Given the description of an element on the screen output the (x, y) to click on. 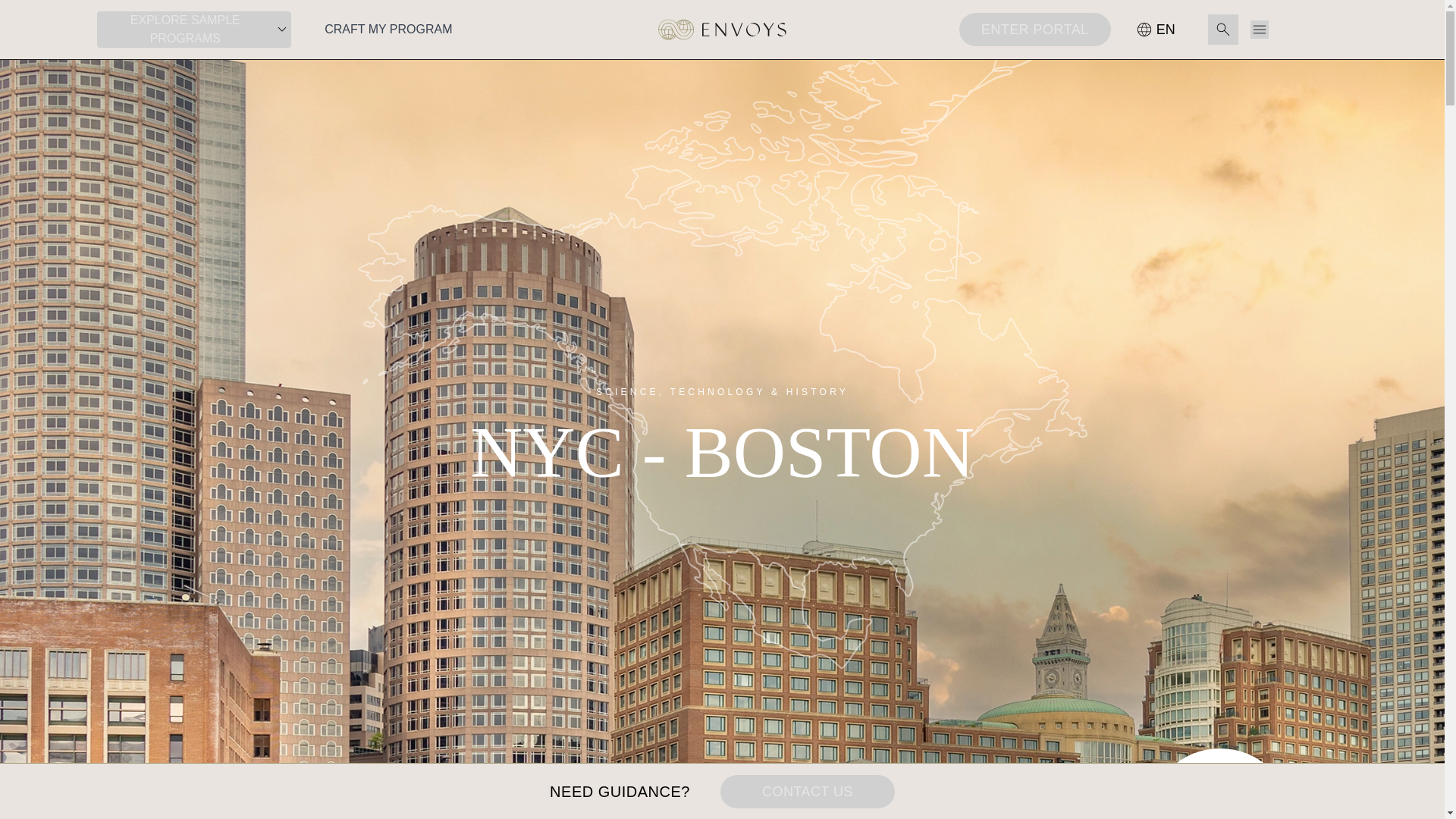
EXPLORE SAMPLE PROGRAMS (194, 29)
CRAFT MY PROGRAM (387, 29)
ENTER PORTAL (1034, 29)
